Given the description of an element on the screen output the (x, y) to click on. 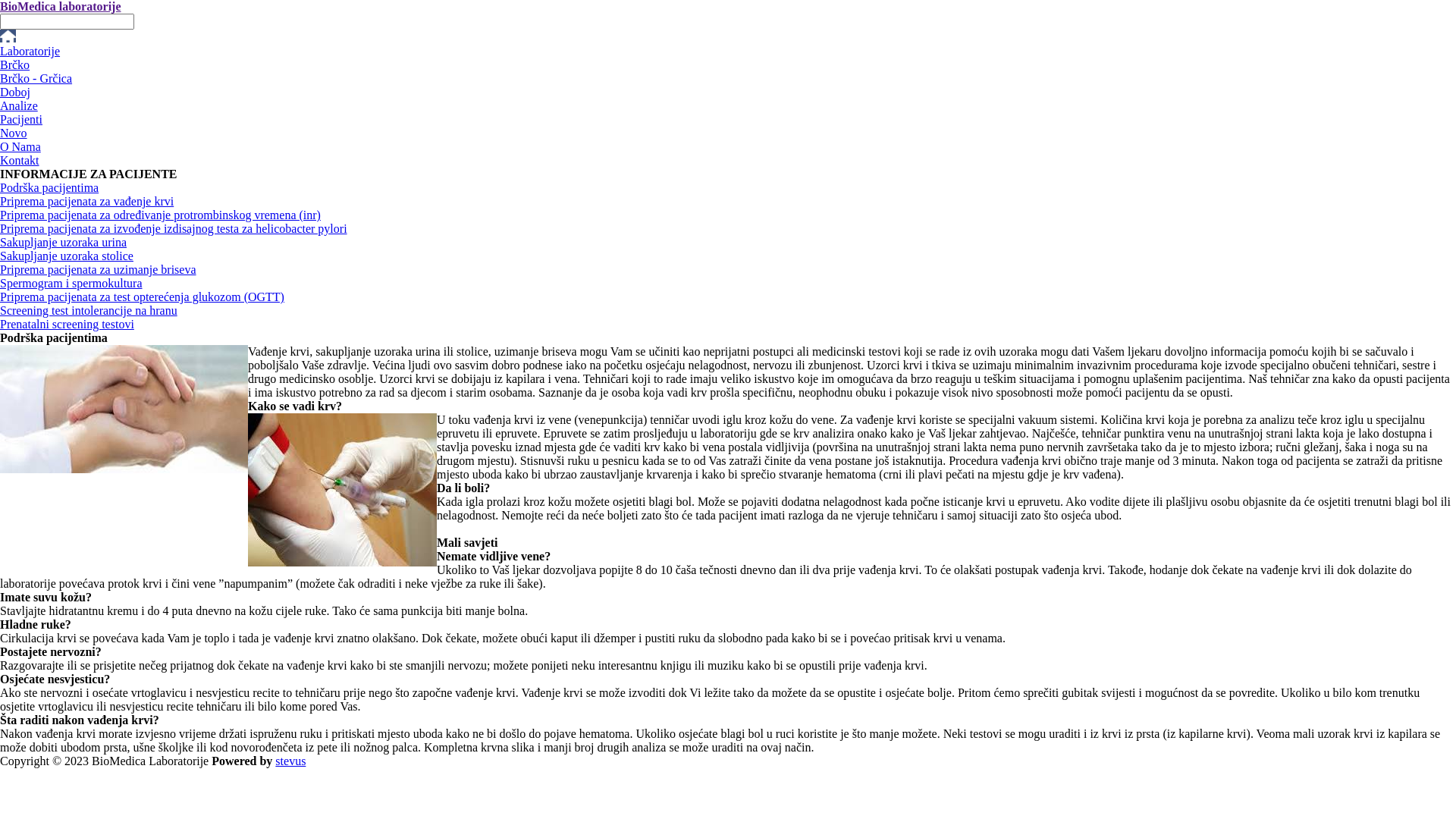
Analize Element type: text (18, 105)
Sakupljanje uzoraka urina Element type: text (63, 241)
Doboj Element type: text (15, 91)
Novo Element type: text (13, 132)
stevus Element type: text (290, 760)
Prenatalni screening testovi Element type: text (67, 323)
O Nama Element type: text (20, 146)
Laboratorije Element type: text (29, 50)
BioMedica laboratorije Element type: text (60, 6)
Priprema pacijenata za uzimanje briseva Element type: text (98, 269)
Kontakt Element type: text (19, 159)
Spermogram i spermokultura Element type: text (71, 282)
Screening test intolerancije na hranu Element type: text (88, 310)
Sakupljanje uzoraka stolice Element type: text (66, 255)
Pacijenti Element type: text (21, 118)
